Given the description of an element on the screen output the (x, y) to click on. 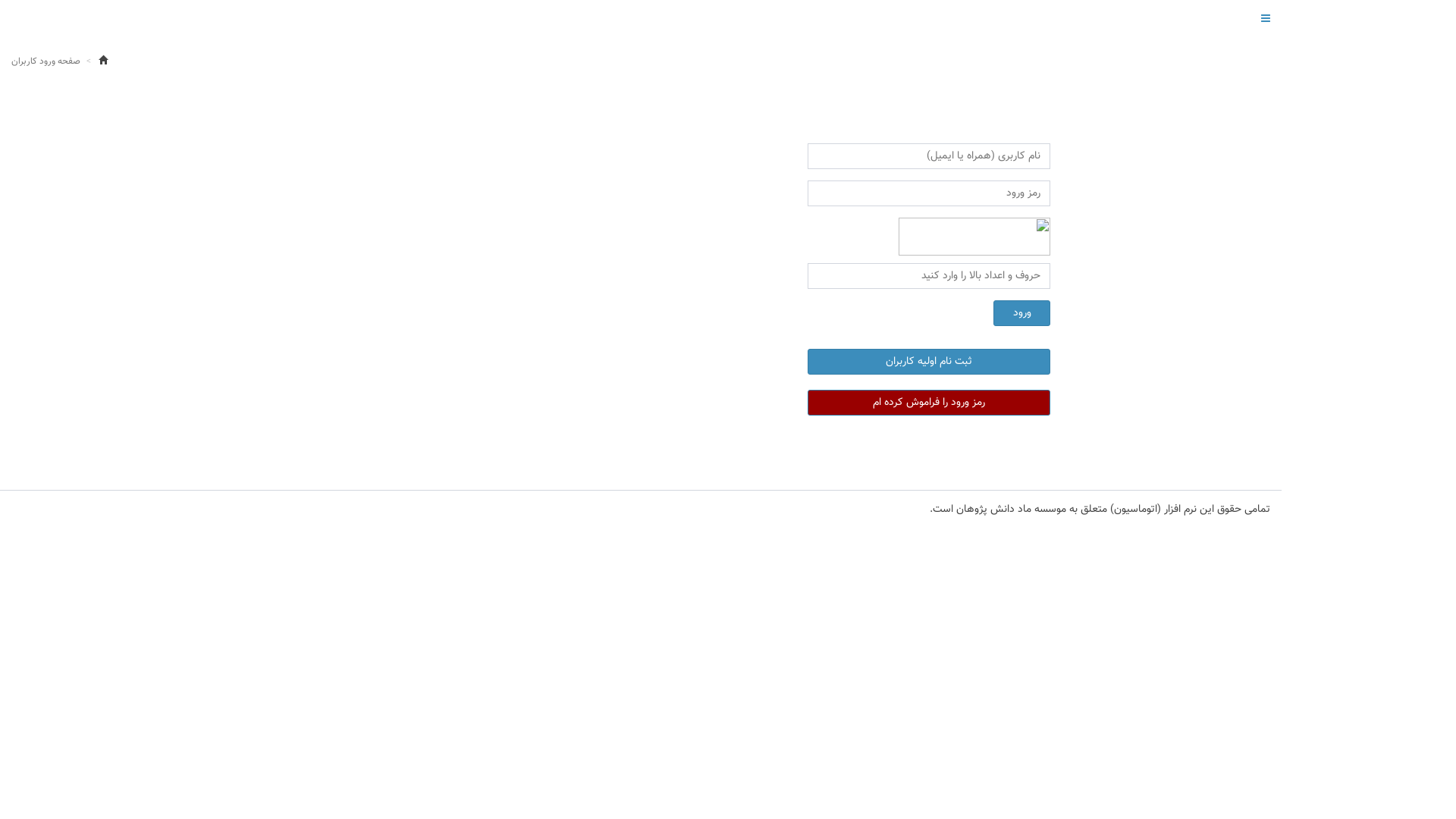
Toggle navigation Element type: text (1265, 18)
